Given the description of an element on the screen output the (x, y) to click on. 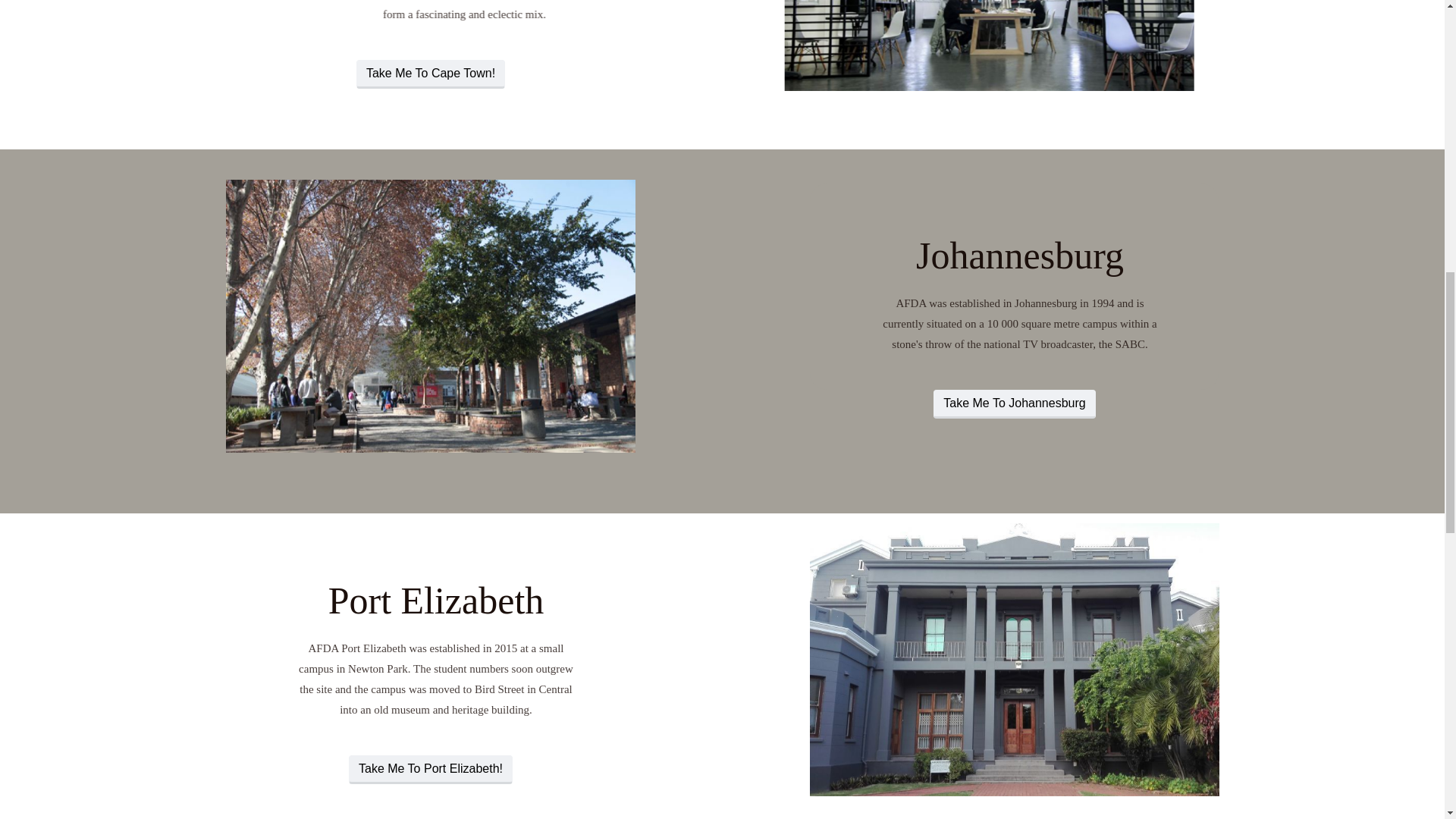
Take Me To Port Elizabeth! (429, 769)
Take Me To Johannesburg (1013, 403)
Take Me To Cape Town! (429, 73)
